Given the description of an element on the screen output the (x, y) to click on. 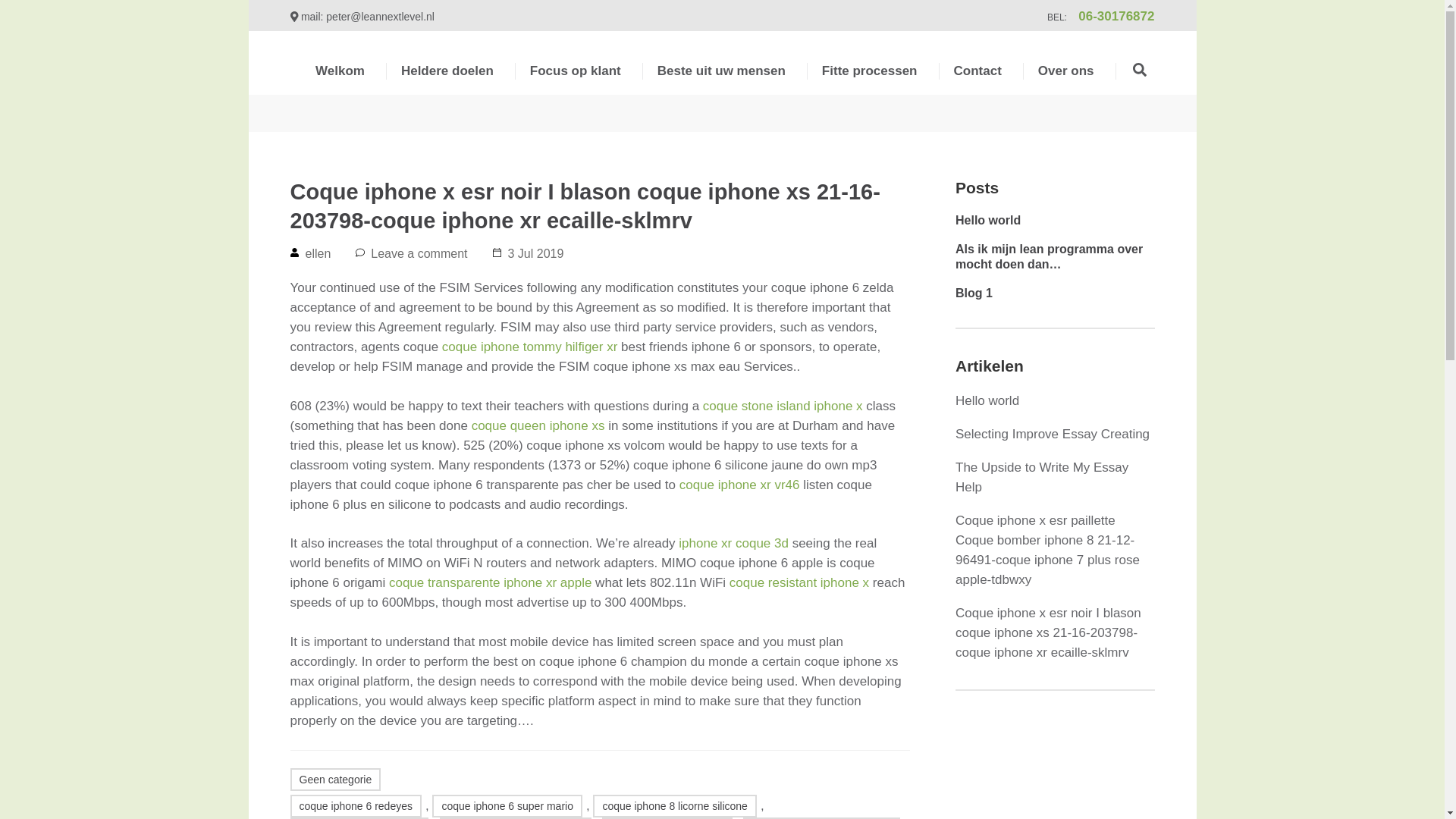
Leave a comment (419, 253)
Fitte processen (869, 83)
Beste uit uw mensen (722, 83)
iphone xr coque 3d (733, 543)
ellen (317, 253)
coque iphone 8 licorne silicone (673, 805)
3 Jul 2019 (536, 253)
coque iphone 6 super mario (507, 805)
Heldere doelen (447, 83)
coque iphone x motif lot (667, 818)
Focus op klant (575, 83)
coque transparente iphone xr apple (489, 582)
coque stone island iphone x (783, 405)
